Given the description of an element on the screen output the (x, y) to click on. 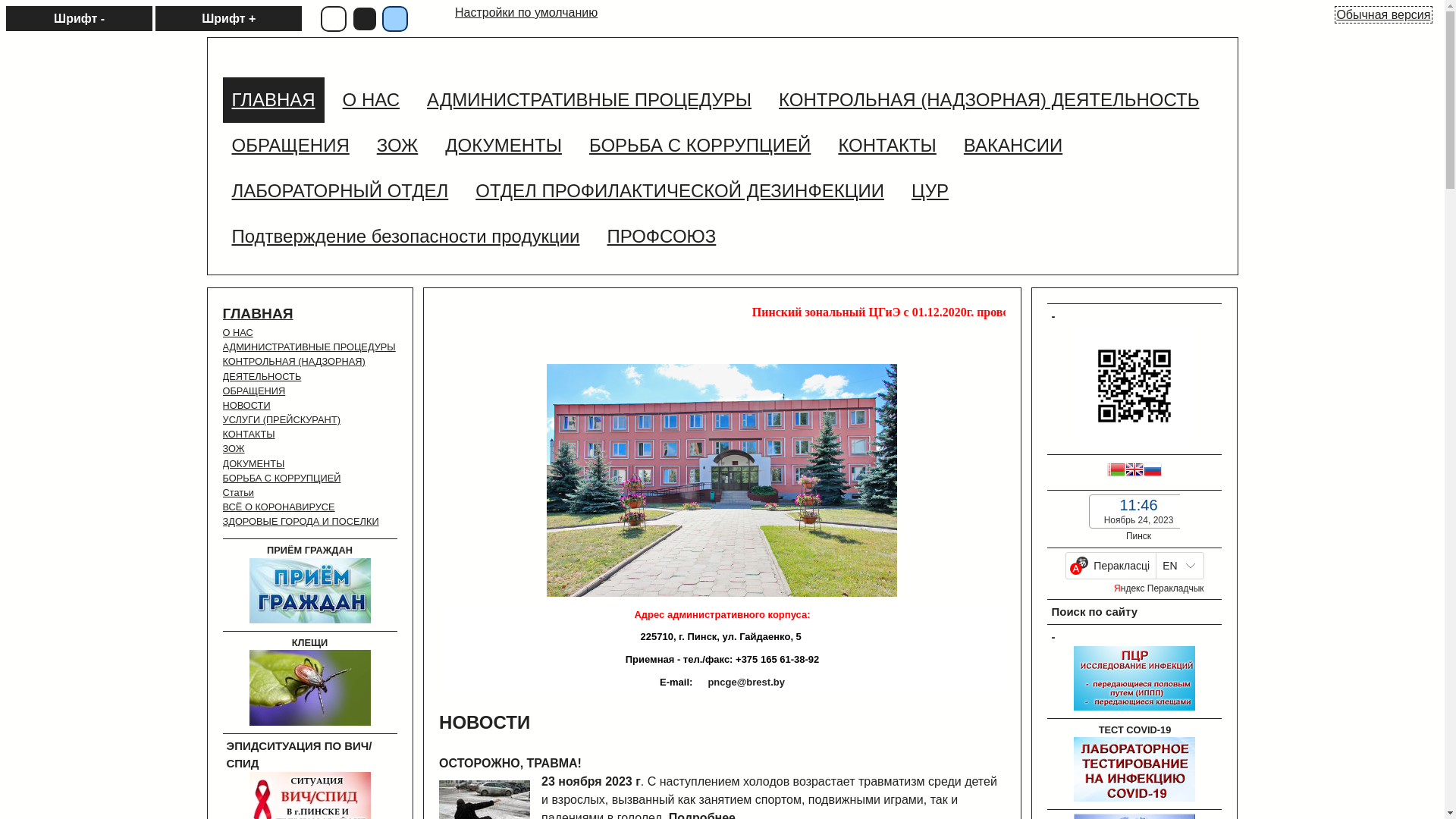
pncge@brest.by Element type: text (738, 681)
Belarusian Element type: hover (1116, 471)
- Element type: hover (1134, 706)
Russian Element type: hover (1152, 471)
English Element type: hover (1134, 471)
